Given the description of an element on the screen output the (x, y) to click on. 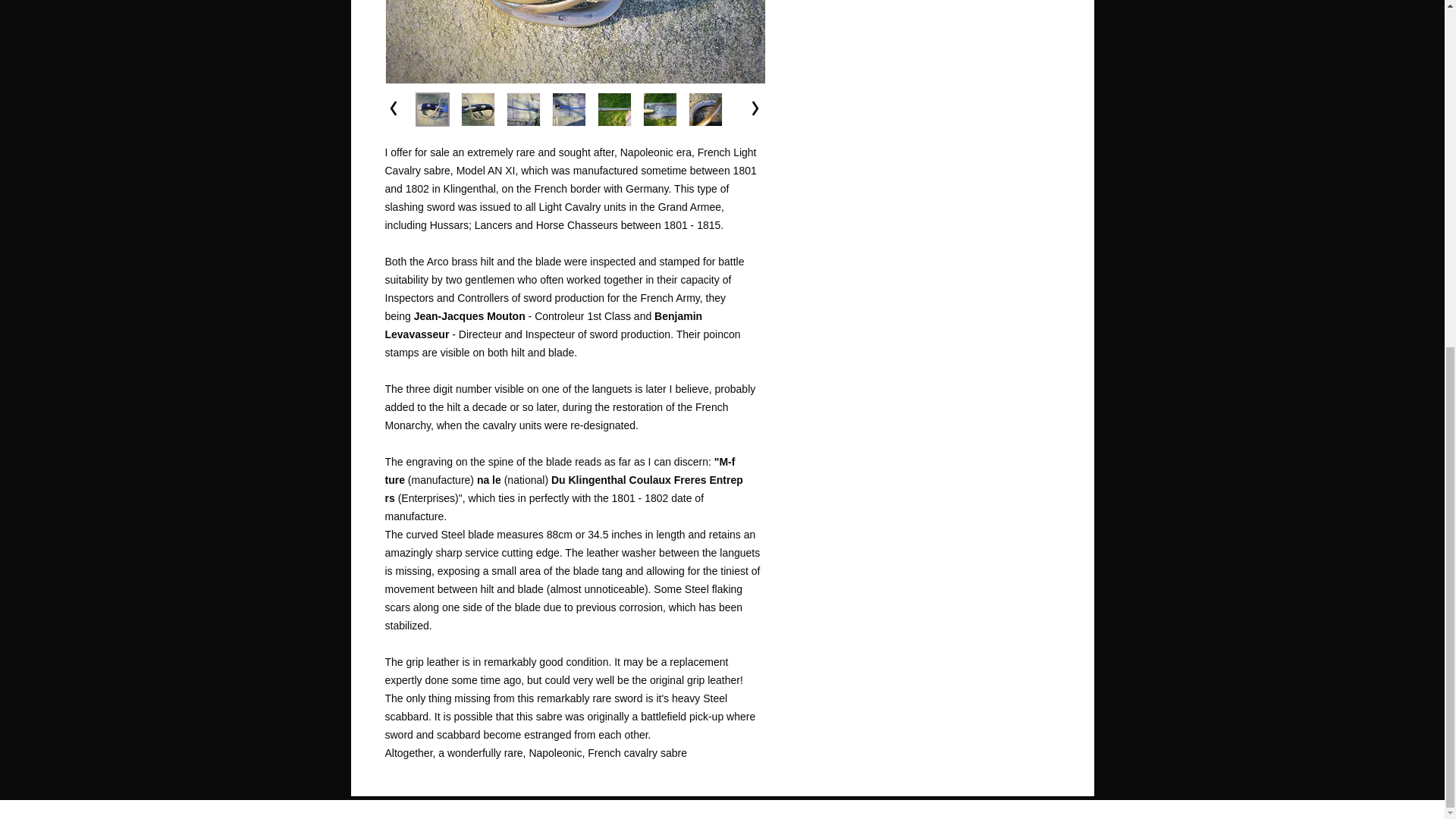
OpenJumbo.com (743, 812)
